Given the description of an element on the screen output the (x, y) to click on. 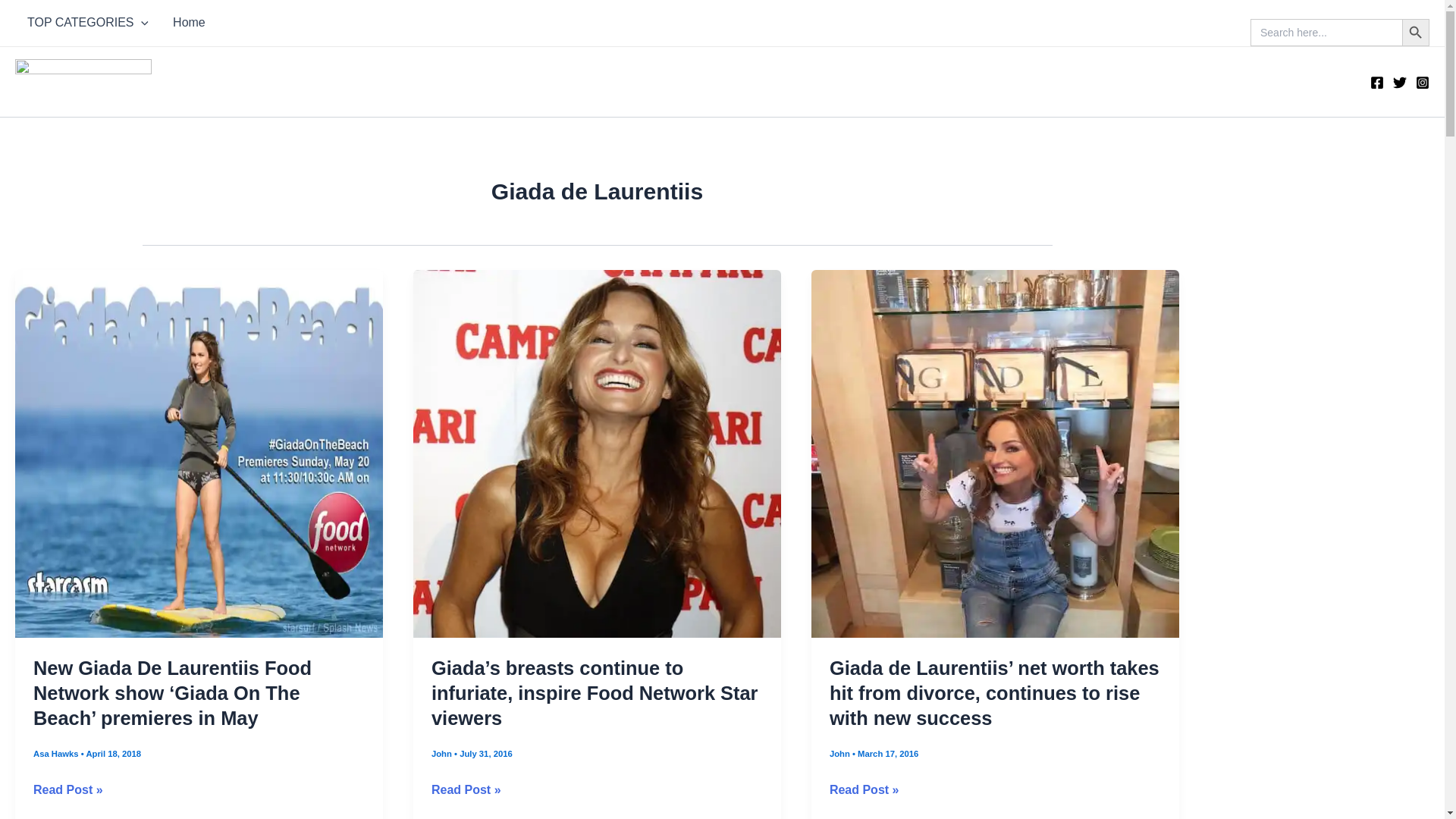
View all posts by John (442, 753)
View all posts by Asa Hawks (57, 753)
View all posts by John (840, 753)
Home (188, 22)
TOP CATEGORIES (87, 22)
Search Button (1415, 31)
Asa Hawks (57, 753)
